Given the description of an element on the screen output the (x, y) to click on. 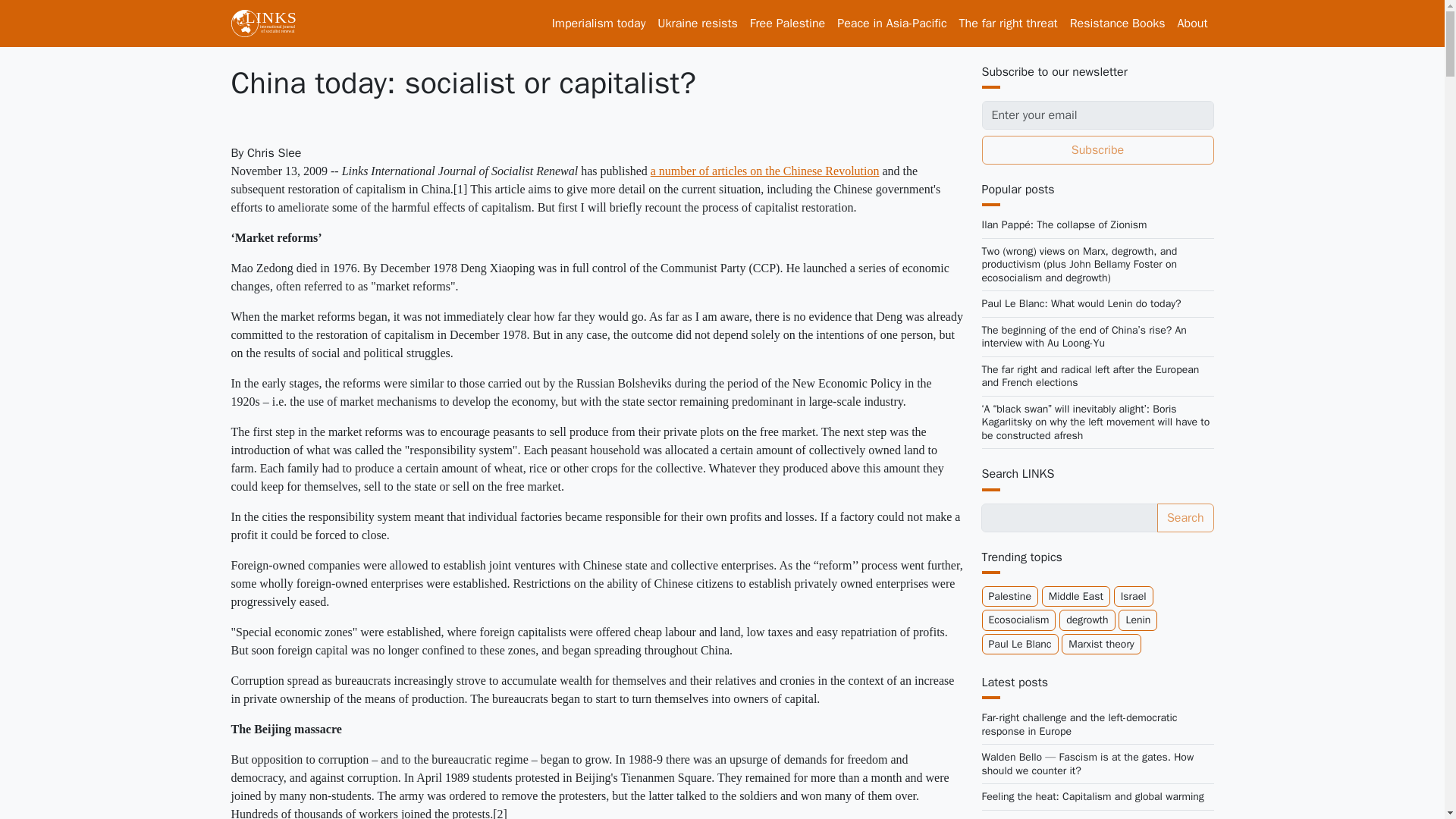
Skip to main content (60, 11)
Free Palestine (787, 23)
Subscribe (1096, 149)
Search (1185, 517)
Home (268, 22)
About (1193, 23)
Search (1185, 517)
a number of articles on the Chinese Revolution (764, 170)
Peace in Asia-Pacific (891, 23)
Resistance Books (1118, 23)
Understanding Putin's war on Ukraine (696, 23)
Resistance Books (1118, 23)
Enter the terms you wish to search for. (1069, 517)
Imperialism today (599, 23)
The far right threat (1008, 23)
